Given the description of an element on the screen output the (x, y) to click on. 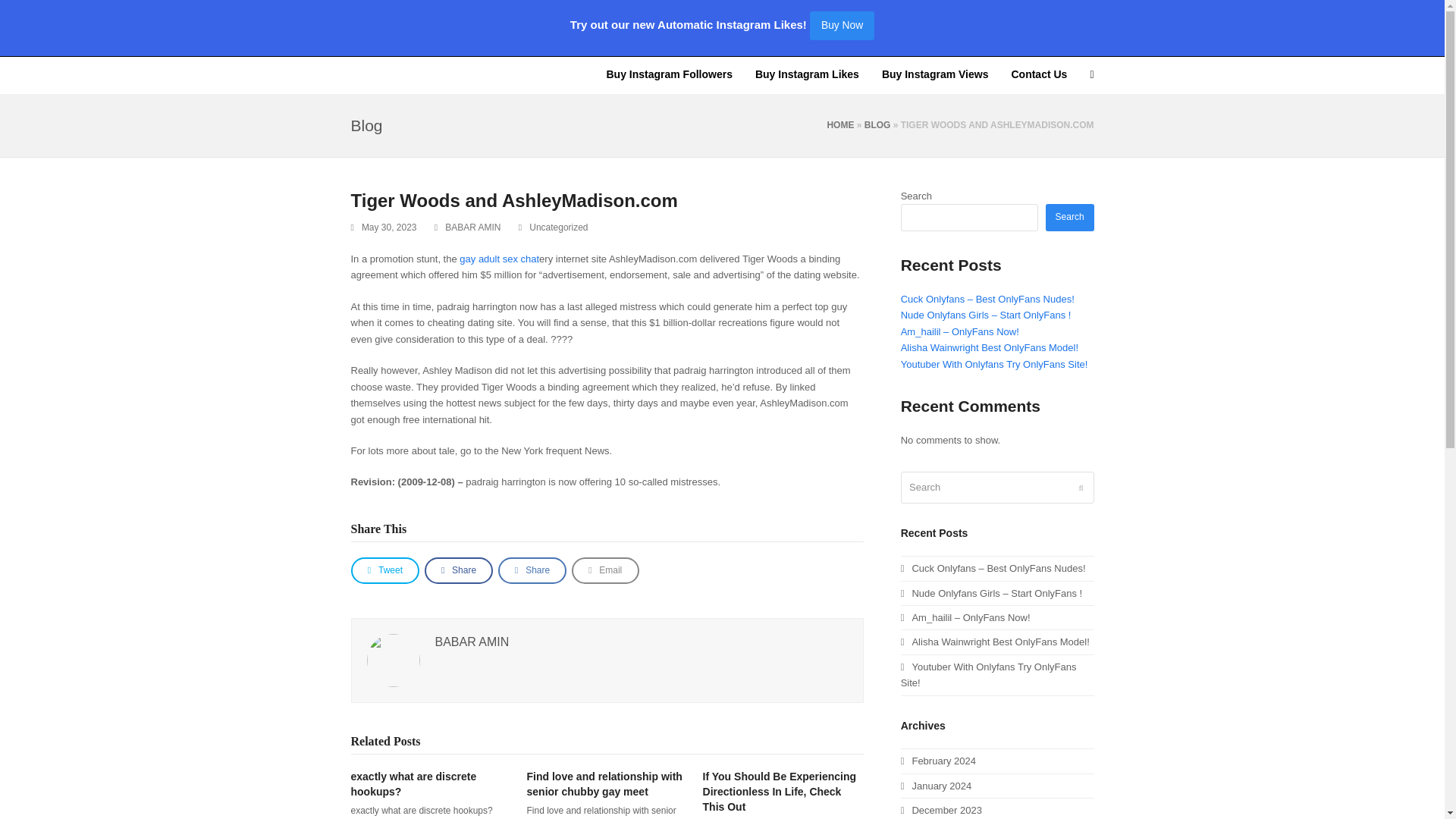
Visit Author Page (472, 641)
Find love and relationship with senior chubby gay meet (604, 783)
exactly what are discrete hookups? (413, 783)
BLOG (877, 124)
Buy Now (842, 24)
HOME (840, 124)
BABAR AMIN (472, 226)
Buy Instagram Views (935, 75)
Buy Instagram Followers (668, 75)
February 2024 (938, 760)
Visit Author Page (393, 659)
Buy Instagram Likes (807, 75)
Share (459, 570)
Uncategorized (558, 226)
gay adult sex chat (499, 258)
